Given the description of an element on the screen output the (x, y) to click on. 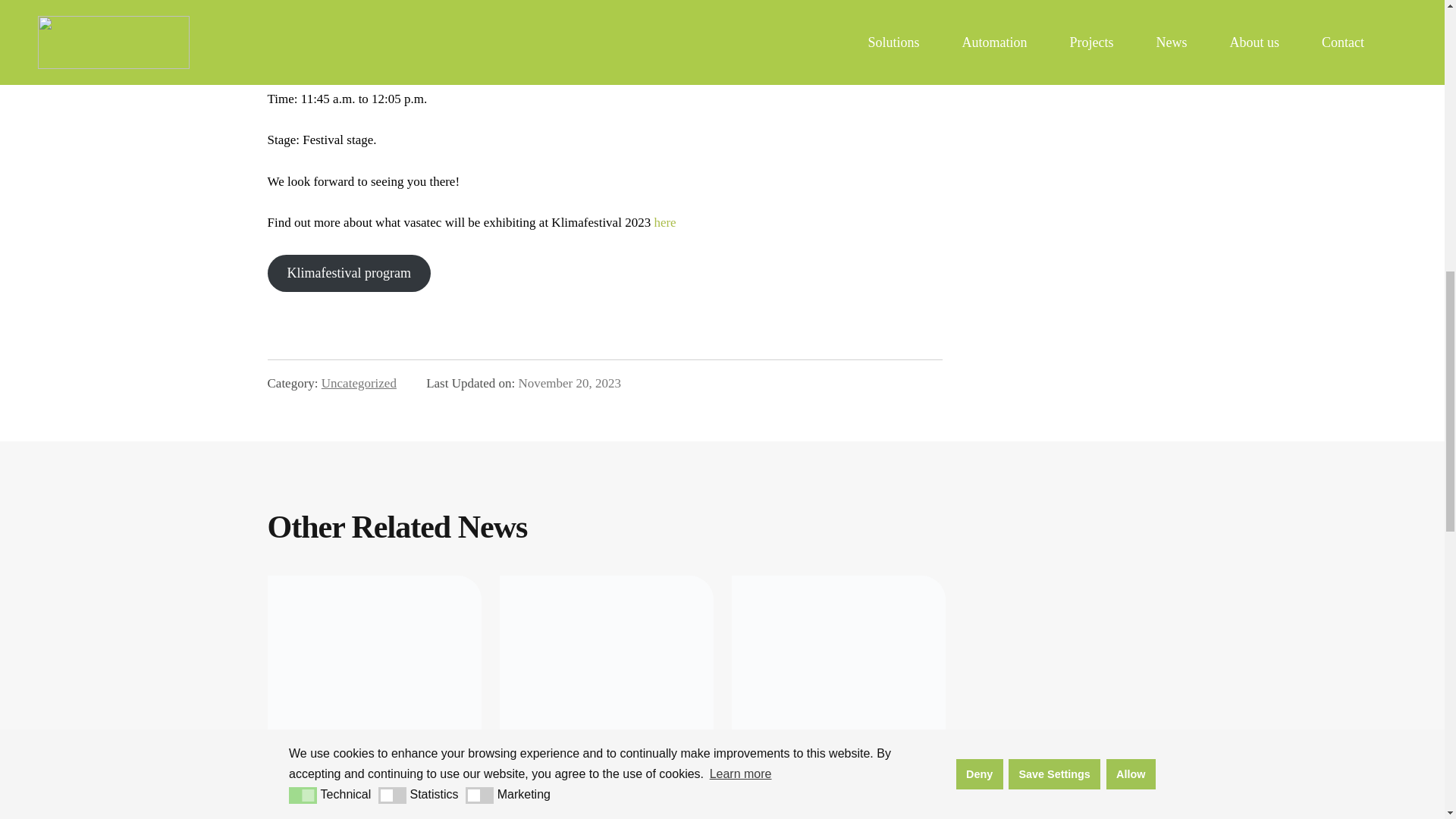
here (664, 222)
Uncategorized (358, 382)
Klimafestival program (347, 272)
